Given the description of an element on the screen output the (x, y) to click on. 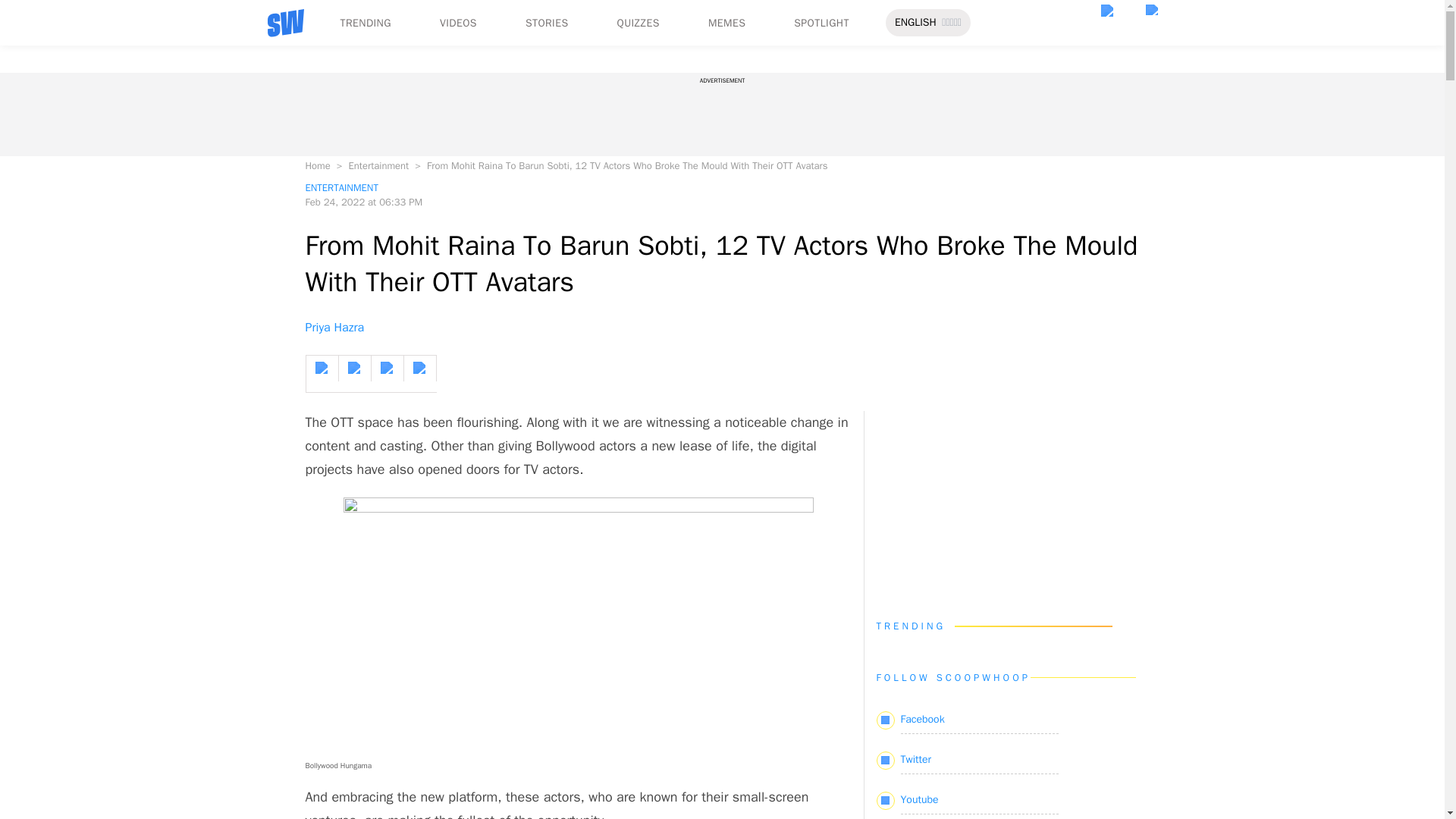
VIDEOS (458, 22)
SPOTLIGHT (820, 22)
QUIZZES (638, 22)
STORIES (547, 22)
ENGLISH (915, 22)
MEMES (726, 22)
TRENDING (364, 22)
